Given the description of an element on the screen output the (x, y) to click on. 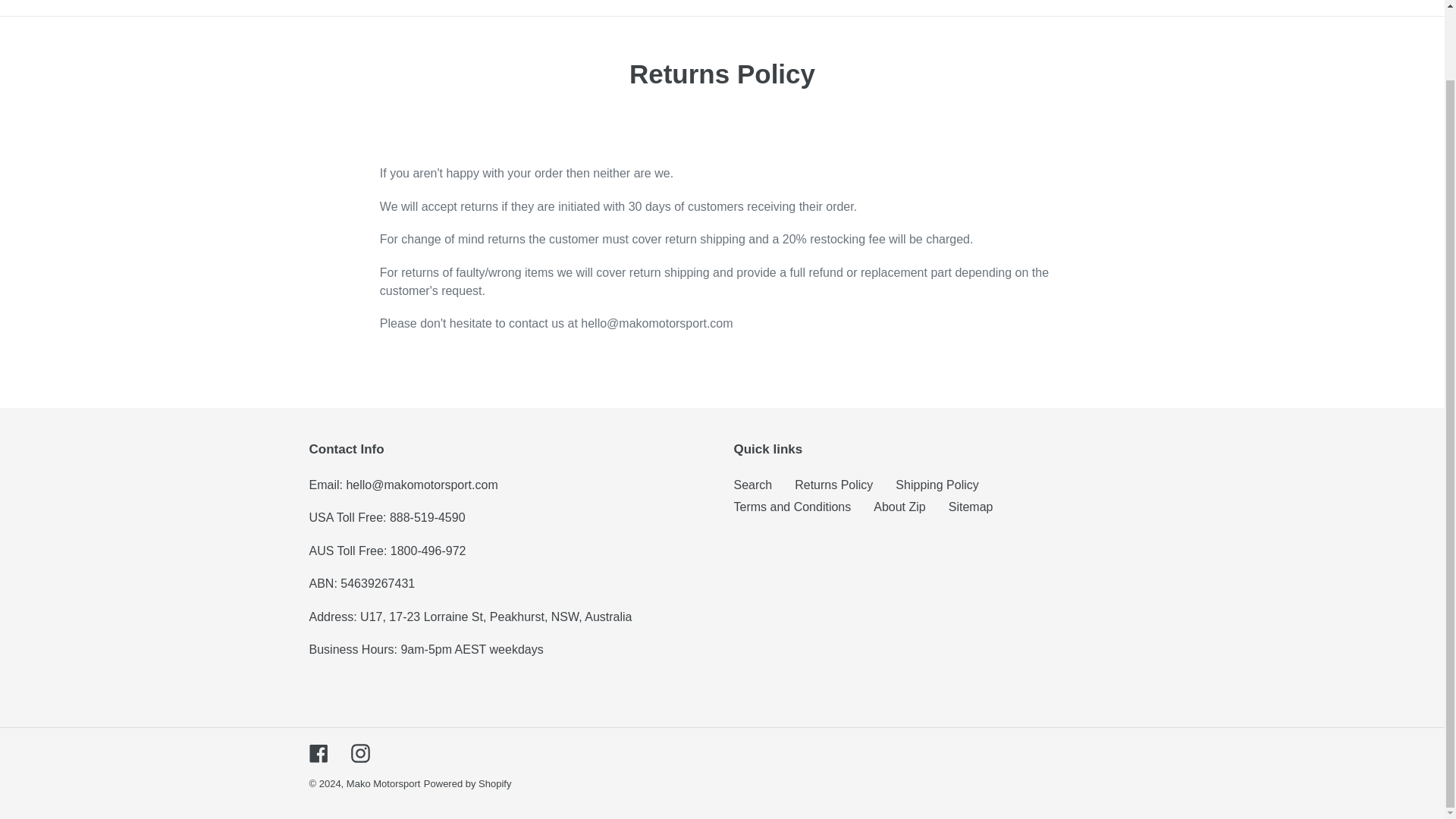
Submit (1313, 1)
Cart (1385, 1)
Log in (1349, 1)
